Given the description of an element on the screen output the (x, y) to click on. 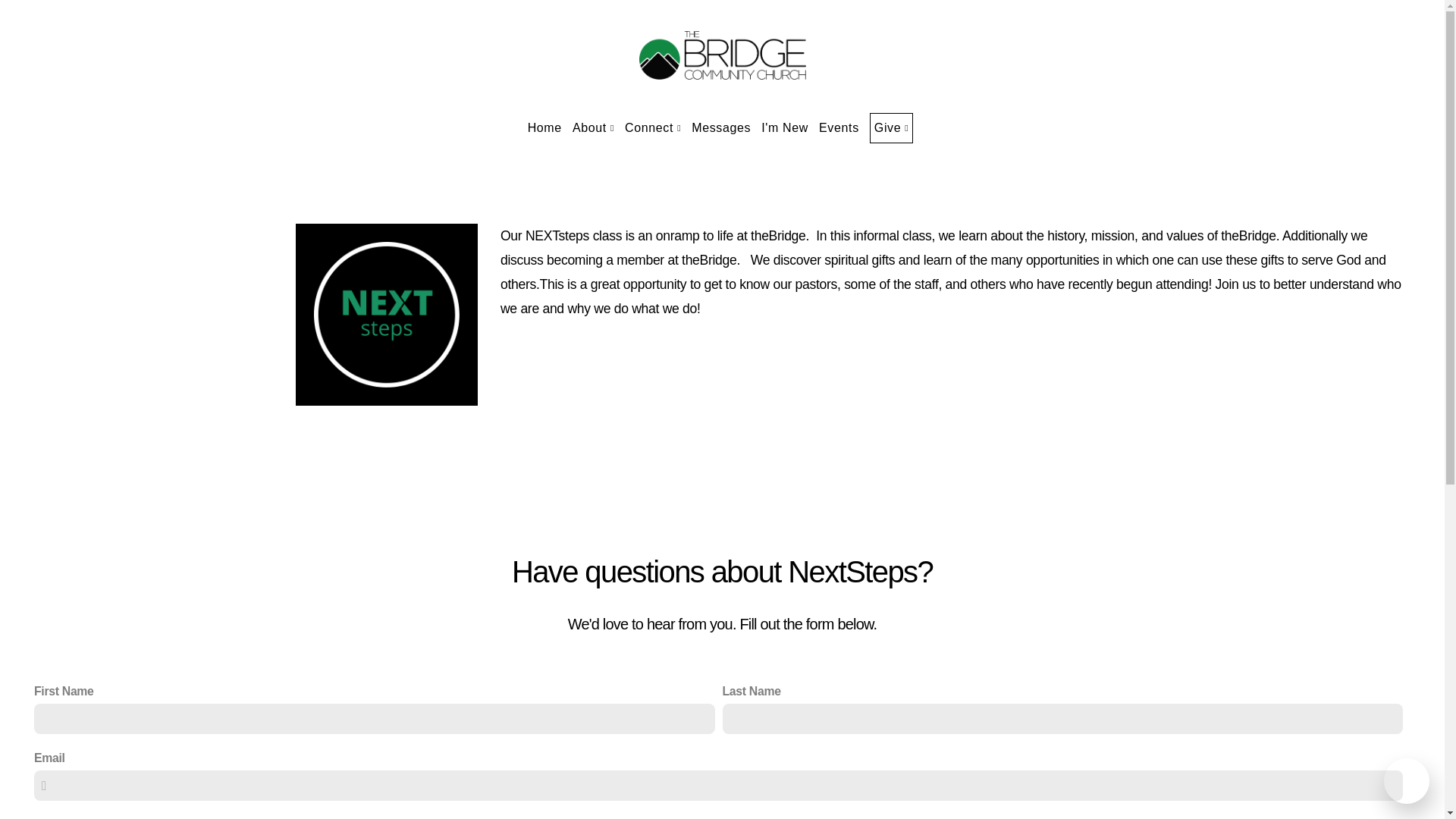
Connect  (652, 127)
Events (839, 127)
About  (593, 127)
I'm New (784, 127)
Messages (720, 127)
Give  (891, 128)
Home (545, 127)
